Given the description of an element on the screen output the (x, y) to click on. 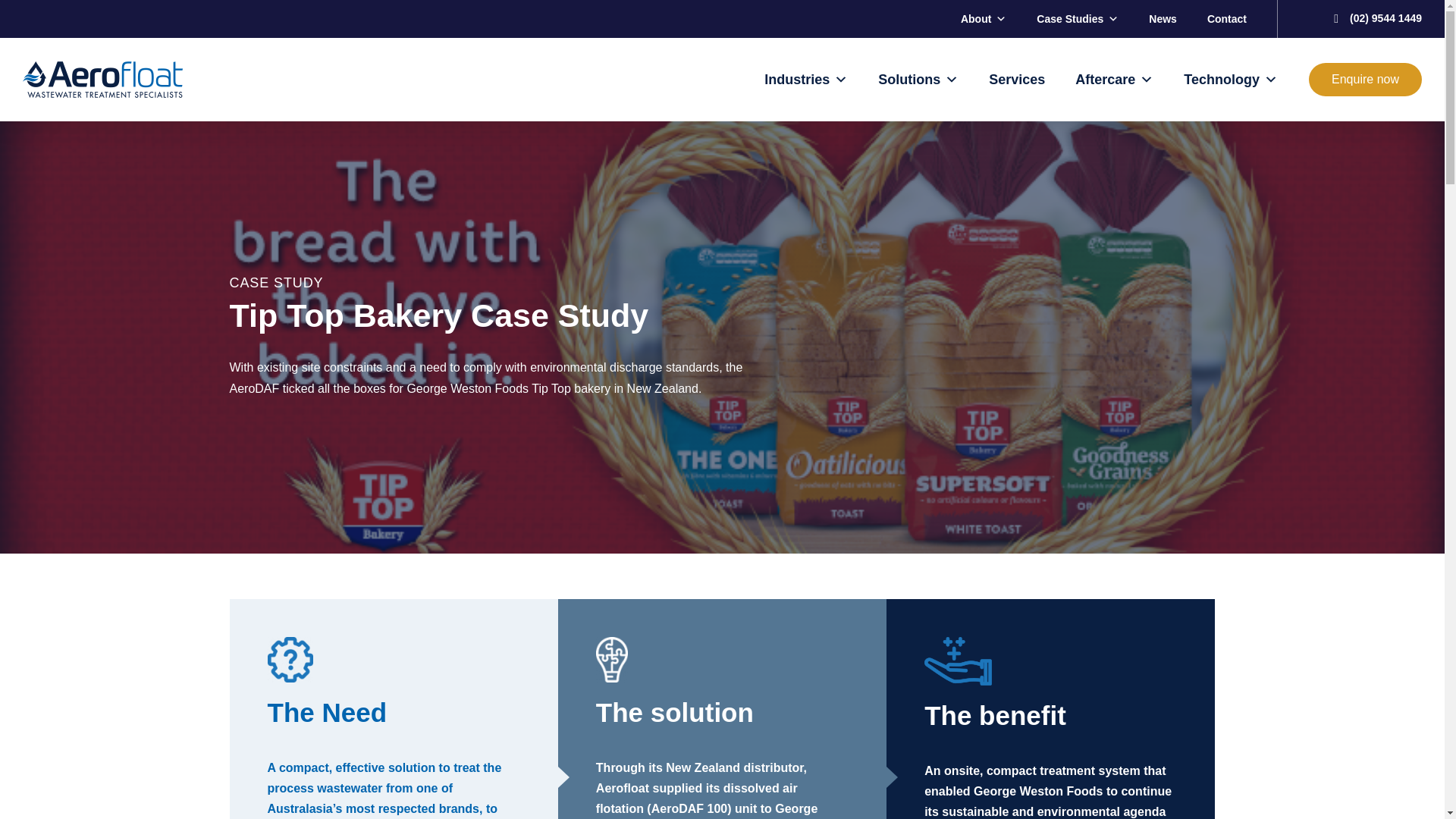
About (983, 18)
Industries (805, 79)
Contact (1226, 18)
Case Studies (1077, 18)
the problem icon (289, 659)
